Given the description of an element on the screen output the (x, y) to click on. 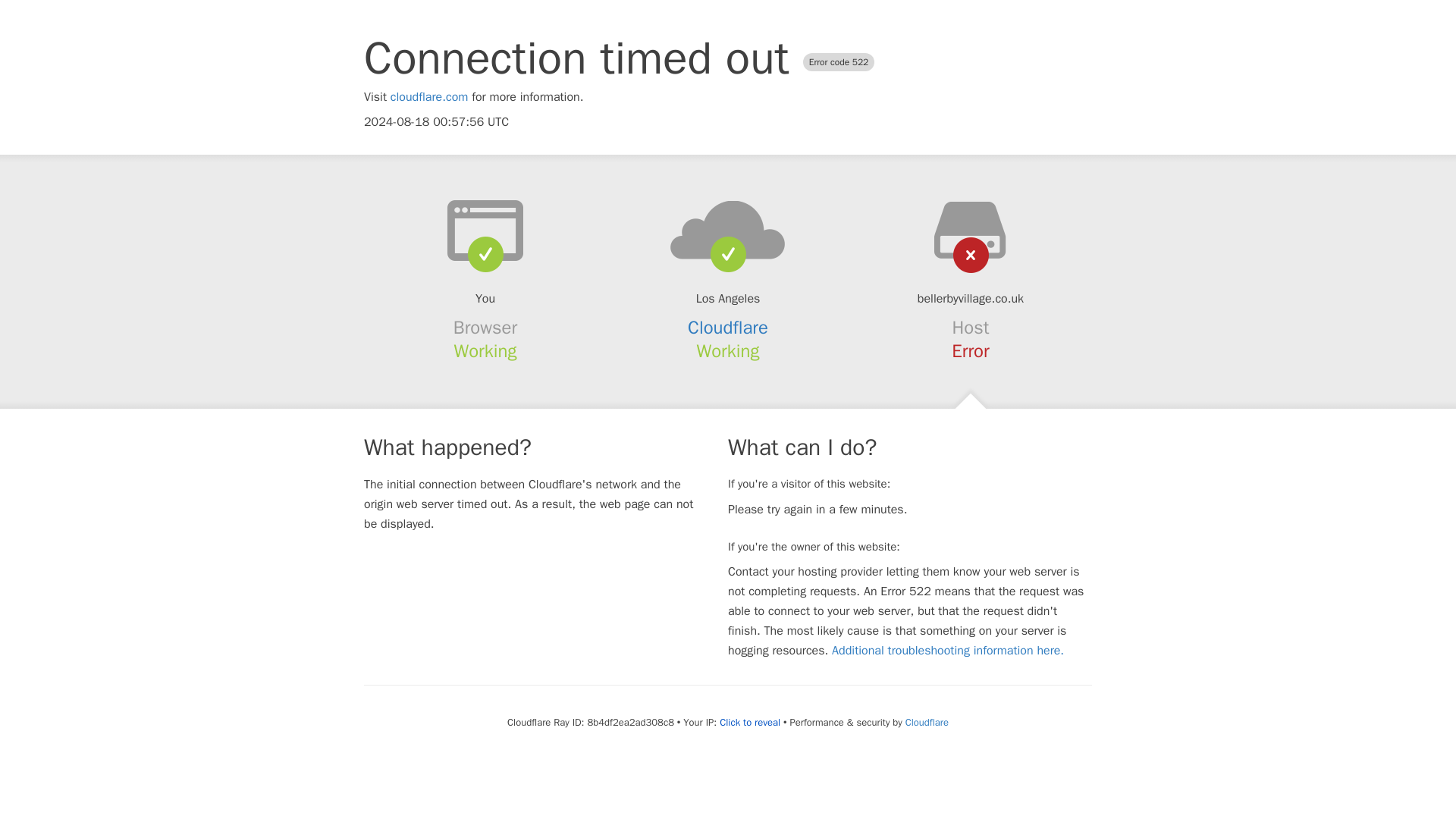
Cloudflare (727, 327)
Additional troubleshooting information here. (947, 650)
Click to reveal (749, 722)
Cloudflare (927, 721)
cloudflare.com (429, 96)
